Given the description of an element on the screen output the (x, y) to click on. 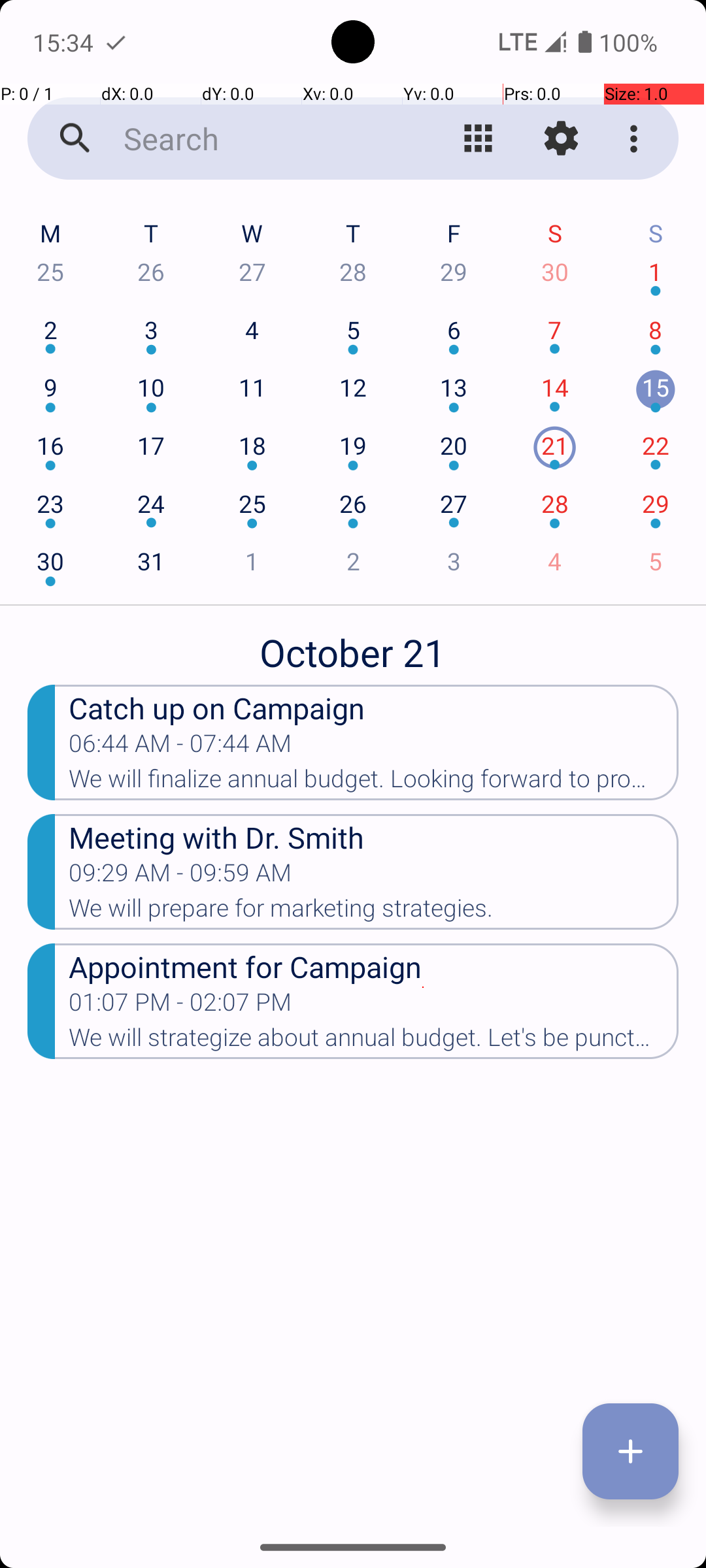
October 21 Element type: android.widget.TextView (352, 644)
Catch up on Campaign Element type: android.widget.TextView (373, 706)
06:44 AM - 07:44 AM Element type: android.widget.TextView (179, 747)
We will finalize annual budget. Looking forward to productive discussions. Element type: android.widget.TextView (373, 782)
Meeting with Dr. Smith Element type: android.widget.TextView (373, 836)
09:29 AM - 09:59 AM Element type: android.widget.TextView (179, 876)
We will prepare for marketing strategies. Element type: android.widget.TextView (373, 911)
01:07 PM - 02:07 PM Element type: android.widget.TextView (179, 1005)
We will strategize about annual budget. Let's be punctual. Element type: android.widget.TextView (373, 1041)
